Given the description of an element on the screen output the (x, y) to click on. 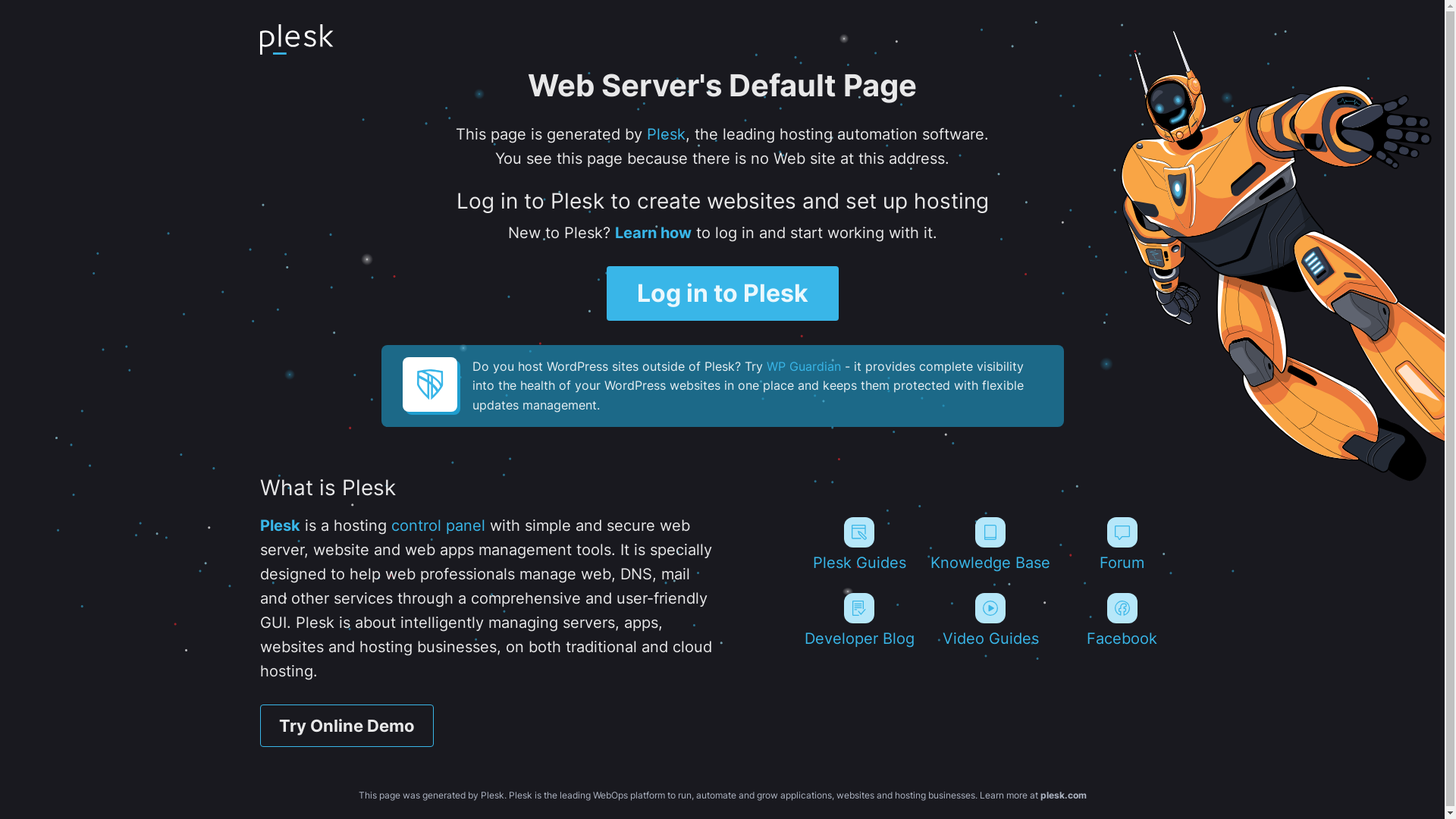
Try Online Demo Element type: text (346, 725)
Knowledge Base Element type: text (990, 544)
Plesk Guides Element type: text (858, 544)
Developer Blog Element type: text (858, 620)
Video Guides Element type: text (990, 620)
Learn how Element type: text (652, 232)
control panel Element type: text (438, 525)
Plesk Element type: text (665, 134)
Forum Element type: text (1121, 544)
Facebook Element type: text (1121, 620)
WP Guardian Element type: text (802, 365)
Plesk Element type: text (279, 525)
plesk.com Element type: text (1063, 794)
Log in to Plesk Element type: text (722, 293)
